Given the description of an element on the screen output the (x, y) to click on. 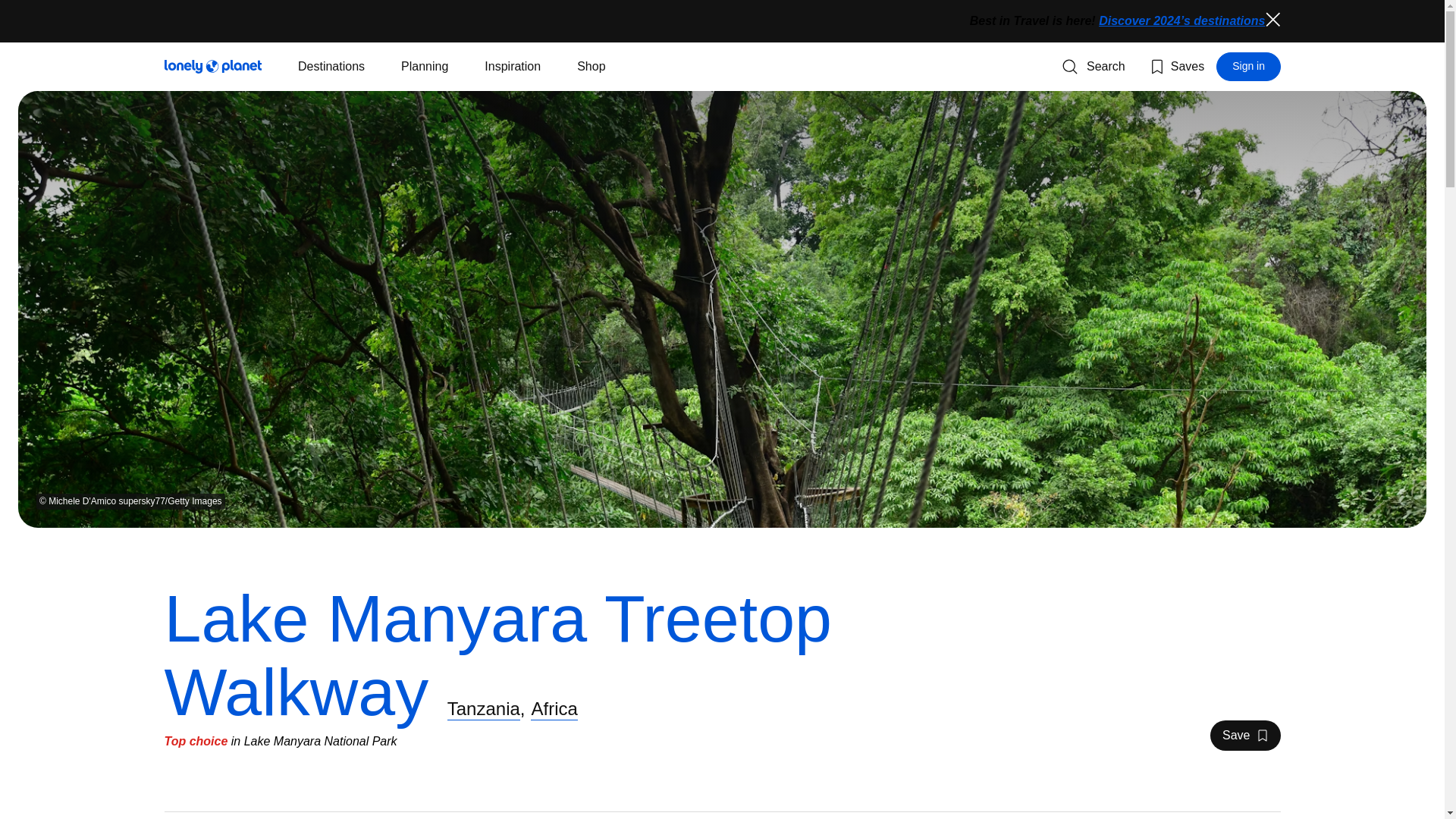
Inspiration (512, 66)
Search (1093, 66)
Tanzania (482, 708)
Africa (553, 708)
Lonely Planet (211, 66)
Saves (1176, 66)
Close alert (1248, 66)
Planning (1244, 735)
Destinations (1272, 19)
